Given the description of an element on the screen output the (x, y) to click on. 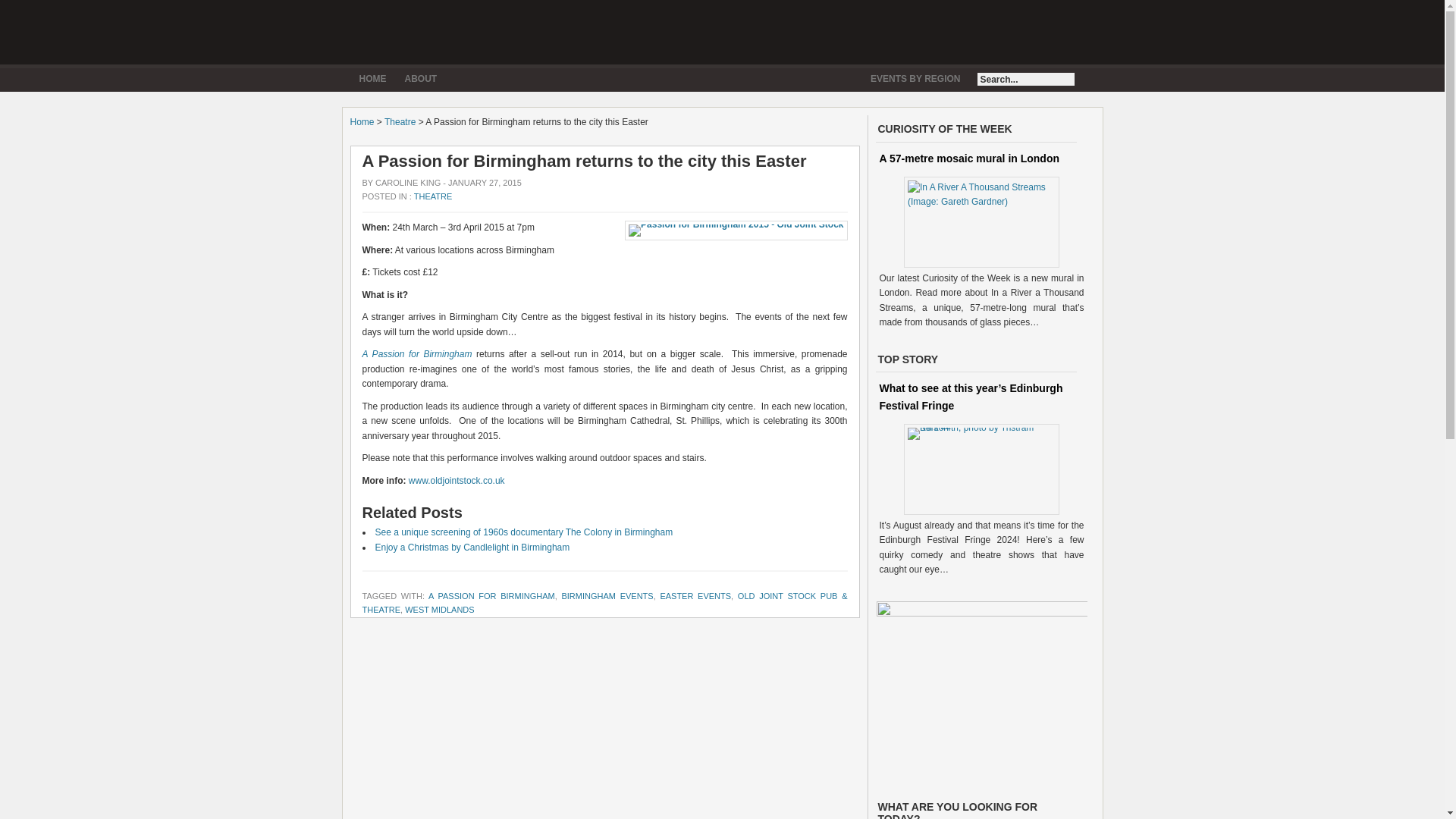
ABOUT (421, 79)
EVENTS BY REGION (915, 79)
Contrary Life (464, 29)
Permanent Link to A 57-metre mosaic mural in London (981, 221)
A PASSION FOR BIRMINGHAM (491, 595)
Permanent Link to A 57-metre mosaic mural in London (969, 158)
Contrary Life on Facebook (1073, 29)
Enjoy a Christmas by Candlelight in Birmingham (471, 547)
Contrary Life on Twitter (1043, 29)
CURIOSITY OF THE WEEK (944, 128)
